Given the description of an element on the screen output the (x, y) to click on. 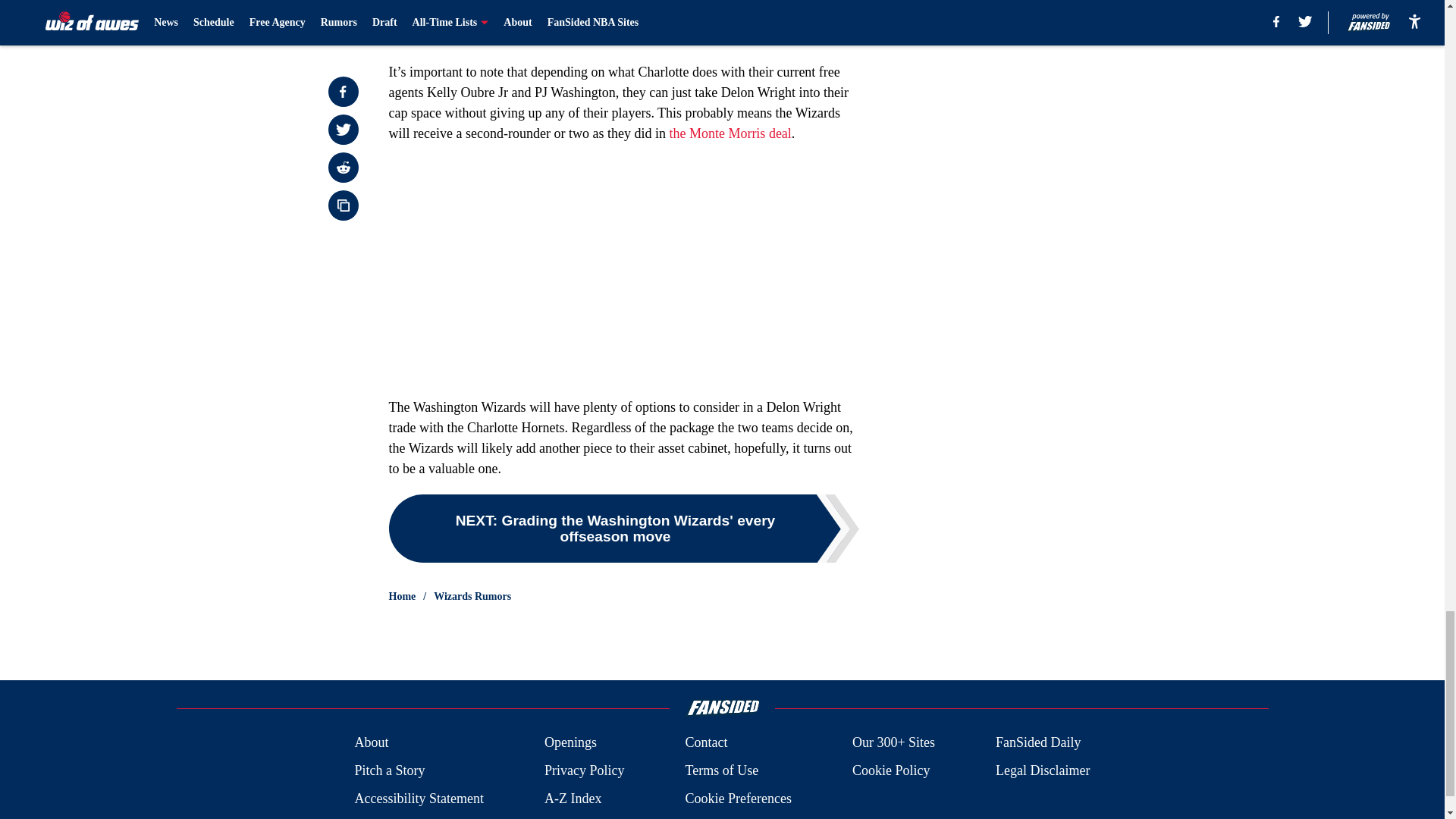
Pitch a Story (389, 770)
Openings (570, 742)
Home (401, 596)
Wizards Rumors (472, 596)
NEXT: Grading the Washington Wizards' every offseason move (623, 528)
Contact (705, 742)
the Monte Morris deal (729, 133)
About (370, 742)
FanSided Daily (1038, 742)
